Given the description of an element on the screen output the (x, y) to click on. 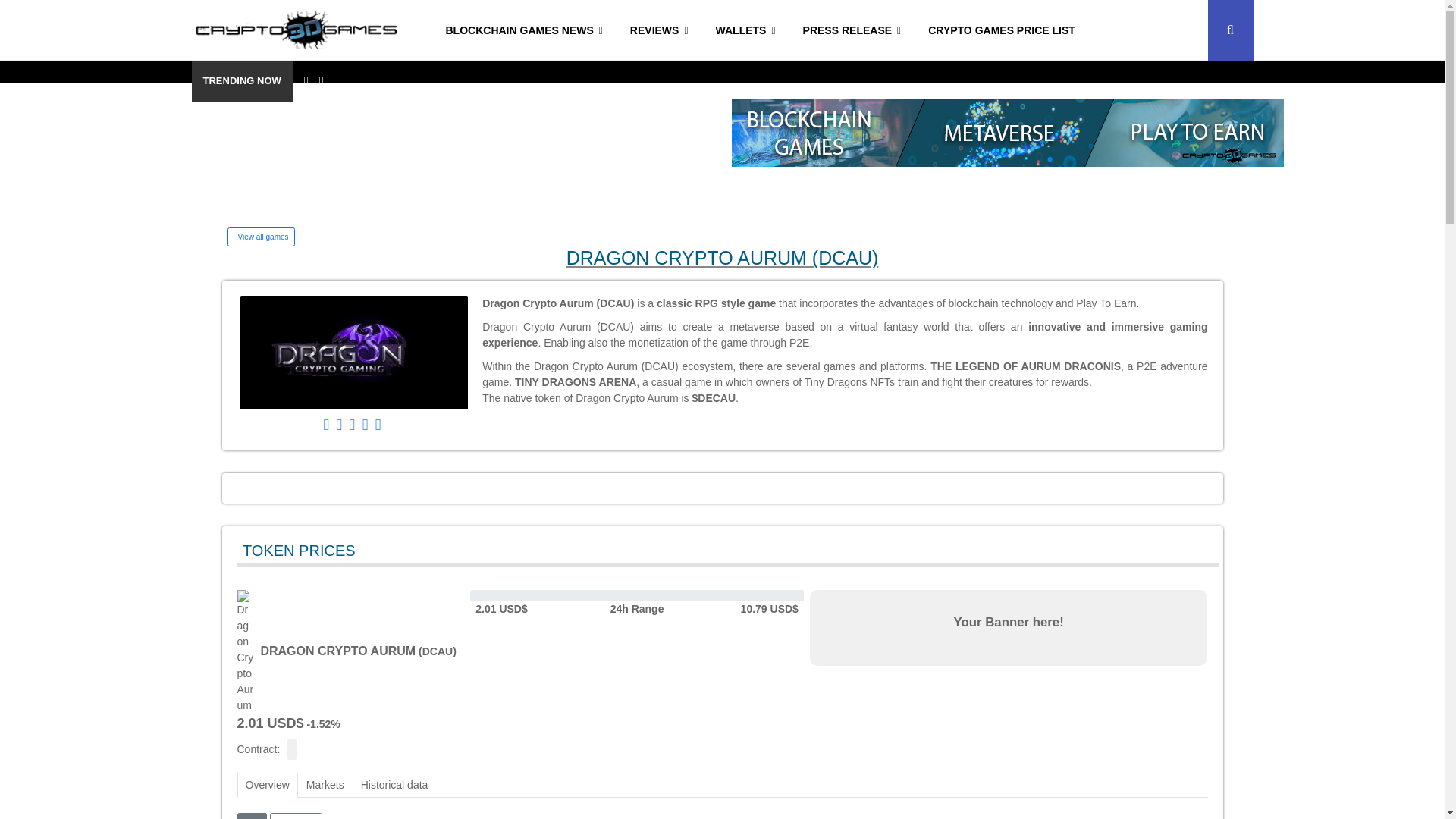
BLOCKCHAIN GAMES NEWS (523, 30)
WALLETS (745, 30)
REVIEWS (658, 30)
